Given the description of an element on the screen output the (x, y) to click on. 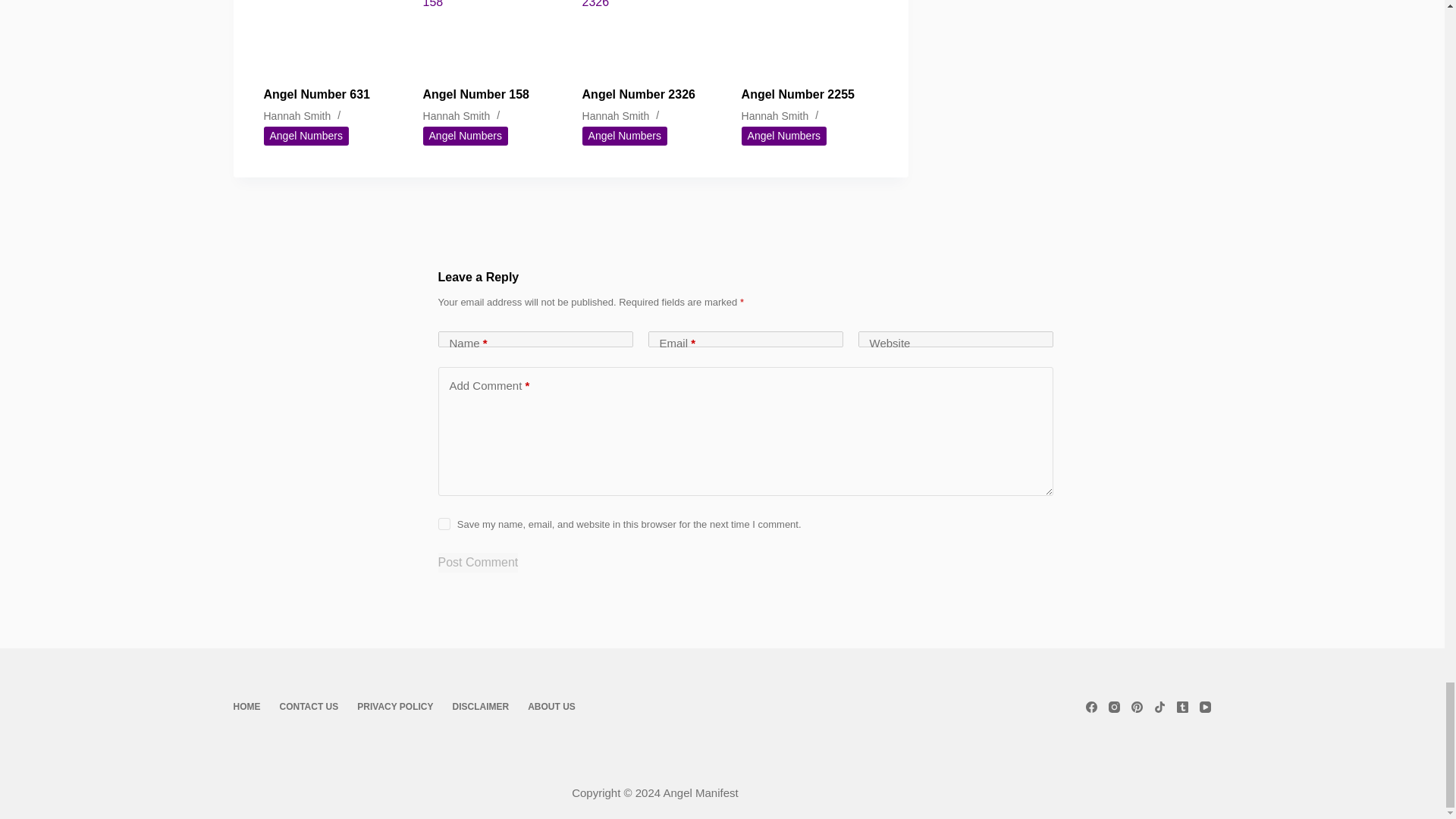
Posts by Hannah Smith (456, 115)
Posts by Hannah Smith (297, 115)
Posts by Hannah Smith (775, 115)
Posts by Hannah Smith (615, 115)
yes (443, 523)
